Given the description of an element on the screen output the (x, y) to click on. 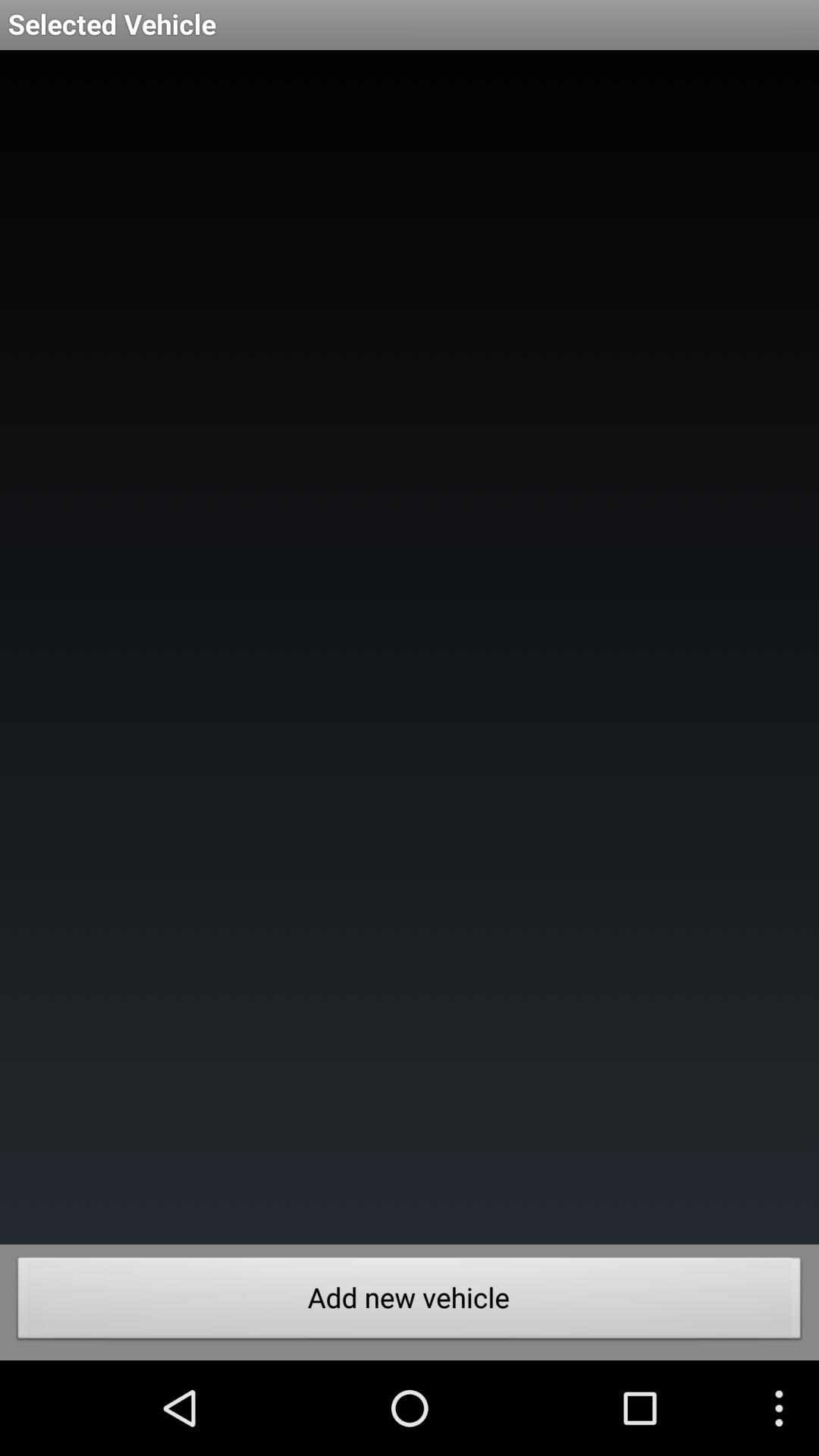
choose the add new vehicle item (409, 1302)
